Given the description of an element on the screen output the (x, y) to click on. 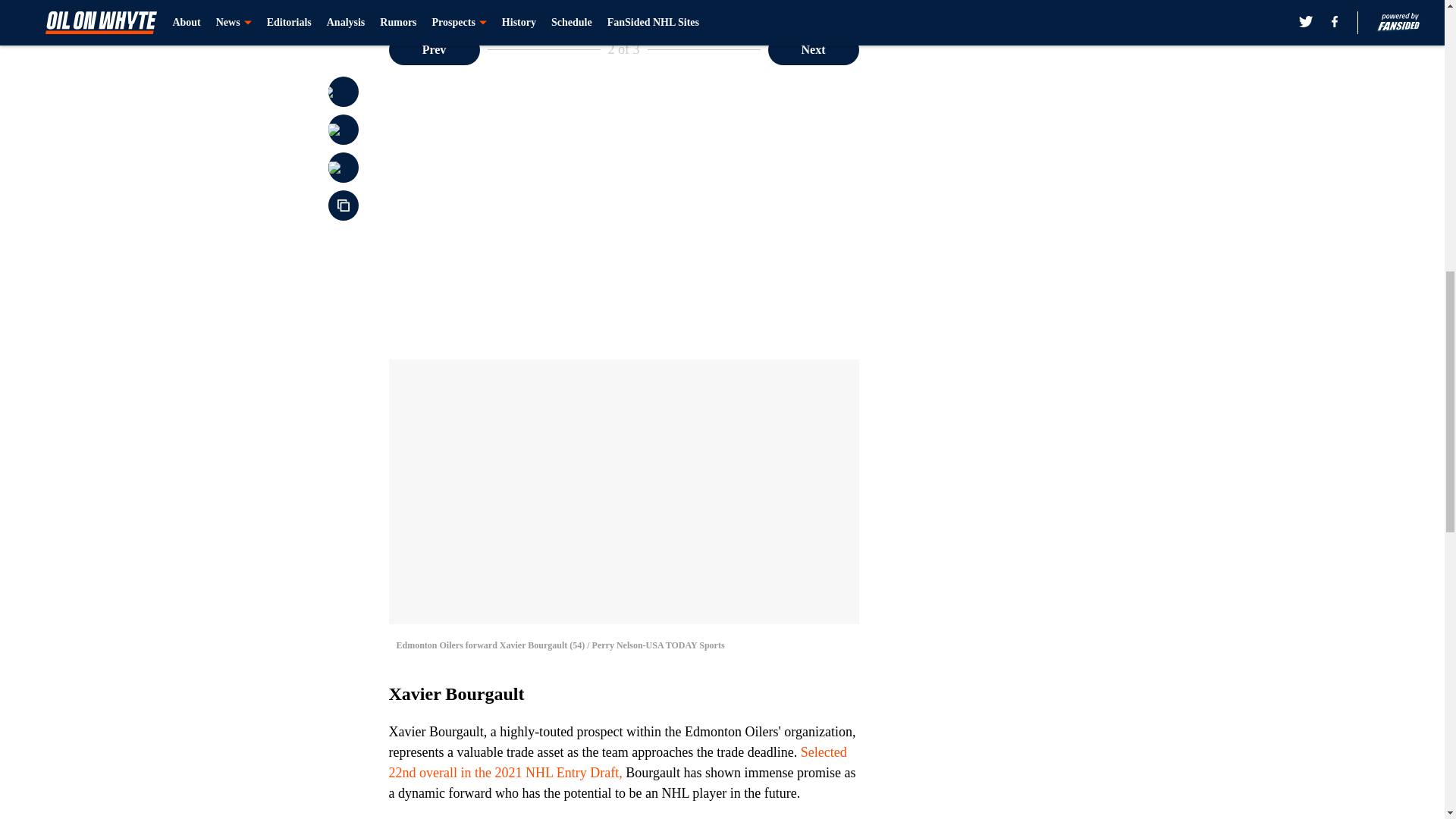
Prev (433, 50)
Next (813, 50)
Selected 22nd overall in the 2021 NHL Entry Draft, (616, 762)
